Given the description of an element on the screen output the (x, y) to click on. 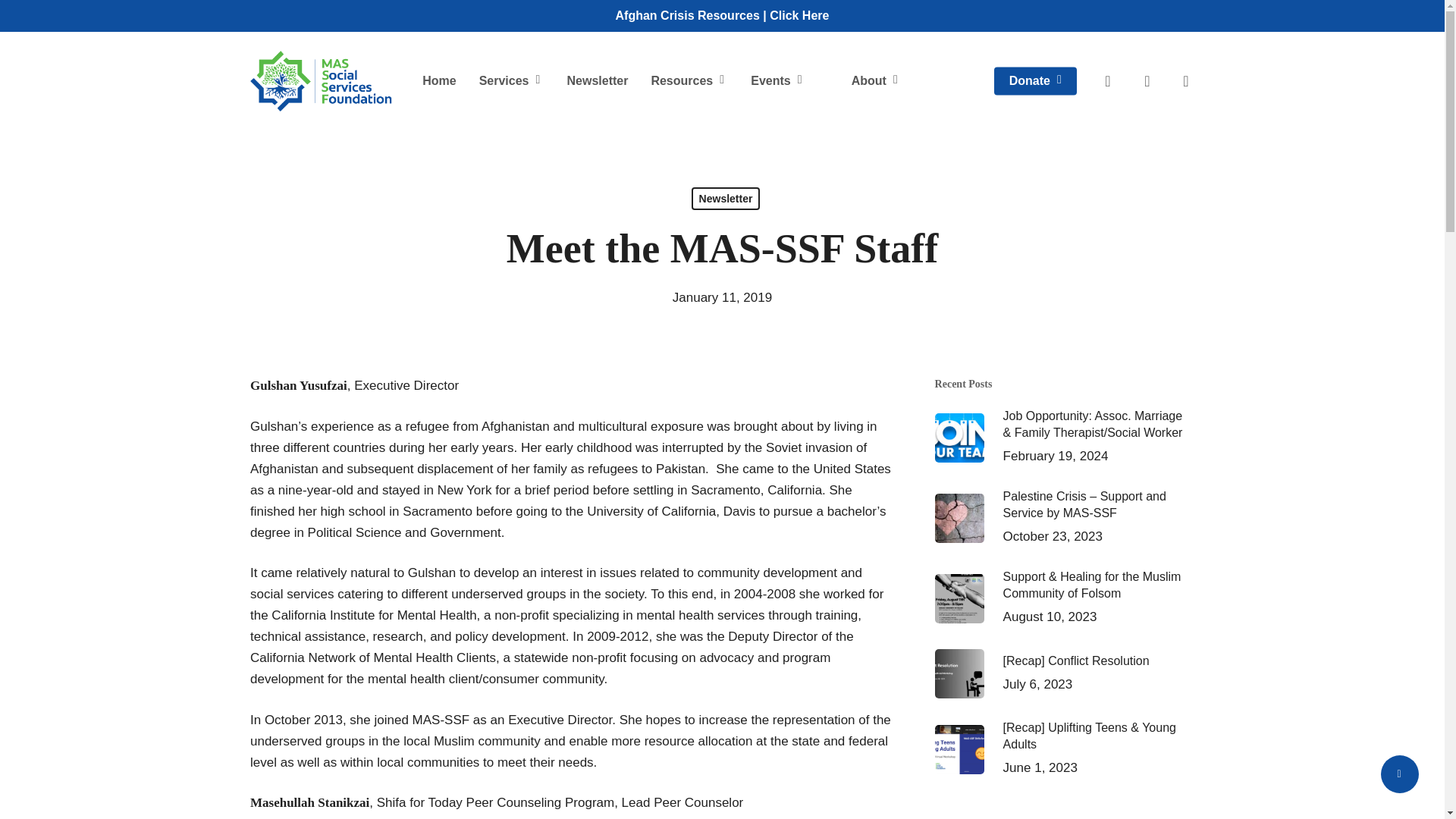
Resources (689, 81)
Newsletter (596, 80)
Events (777, 81)
Services (511, 81)
About (876, 81)
Home (438, 80)
